Given the description of an element on the screen output the (x, y) to click on. 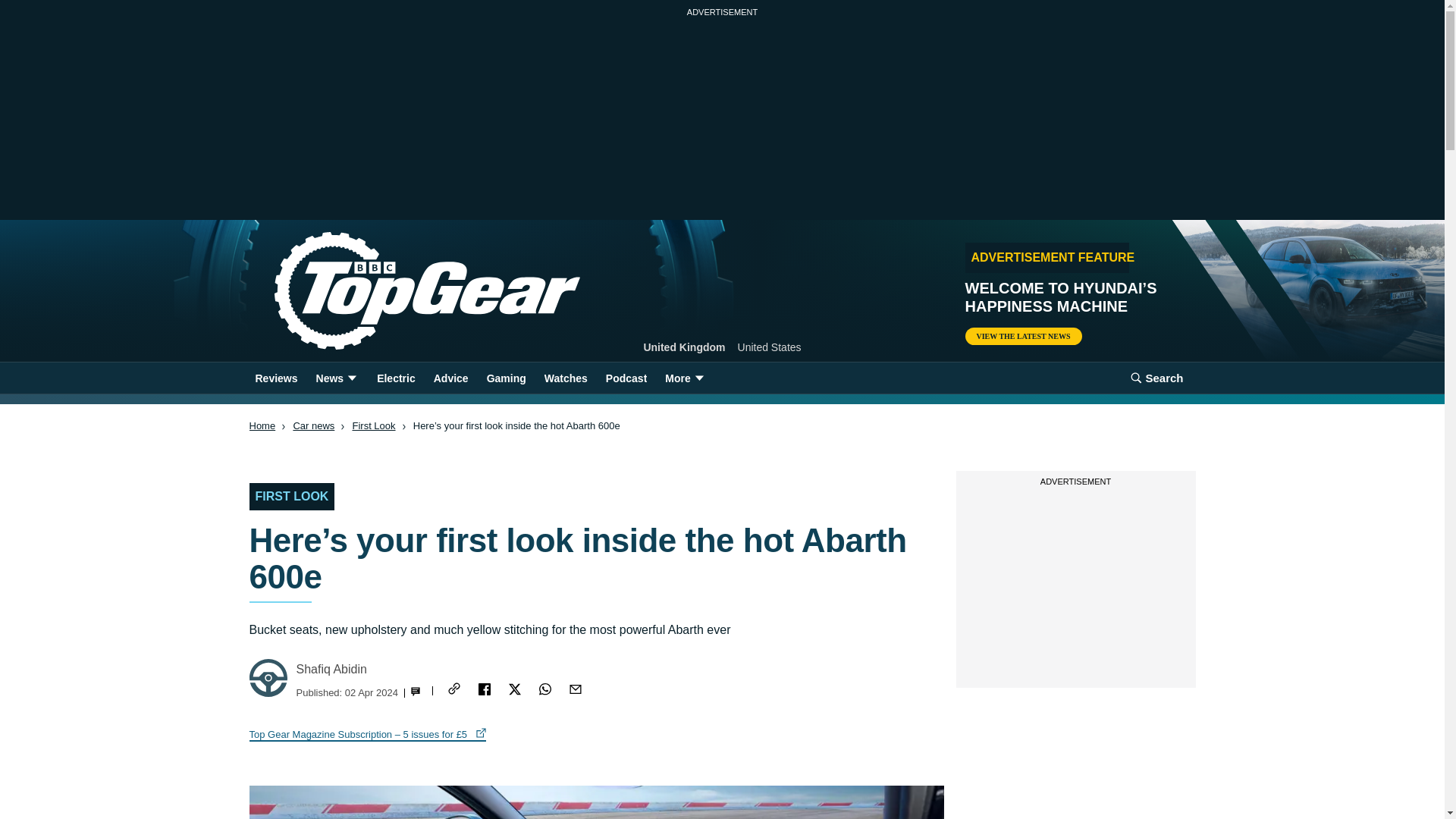
Home (261, 425)
Electric (396, 377)
Search (1156, 377)
More (685, 377)
VIEW THE LATEST NEWS (1022, 335)
Shafiq Abidin (330, 669)
United States (770, 347)
Advice (451, 377)
Gaming (506, 377)
First Look (373, 425)
